Given the description of an element on the screen output the (x, y) to click on. 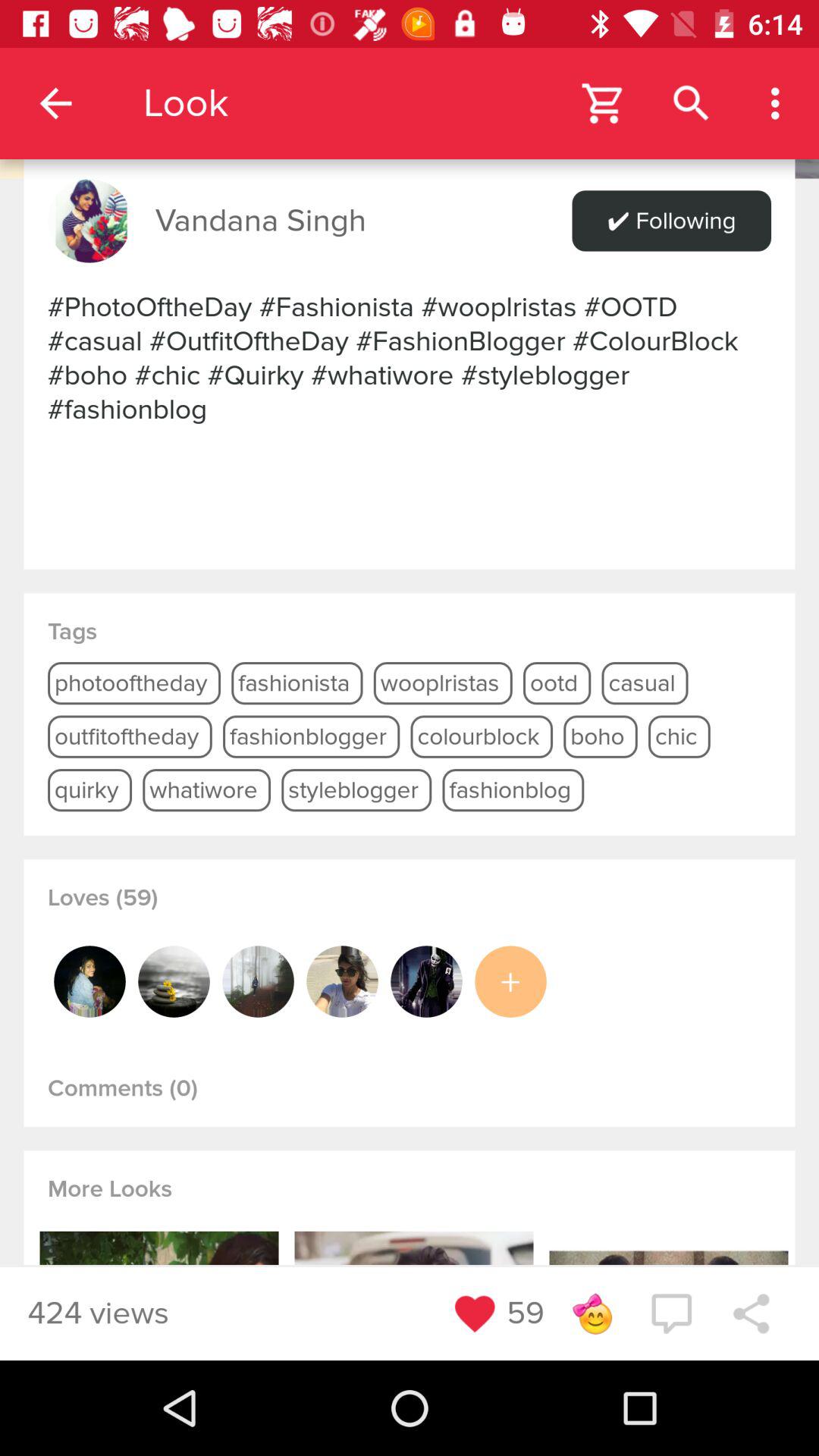
choose the item below the loves (59) item (426, 981)
